Given the description of an element on the screen output the (x, y) to click on. 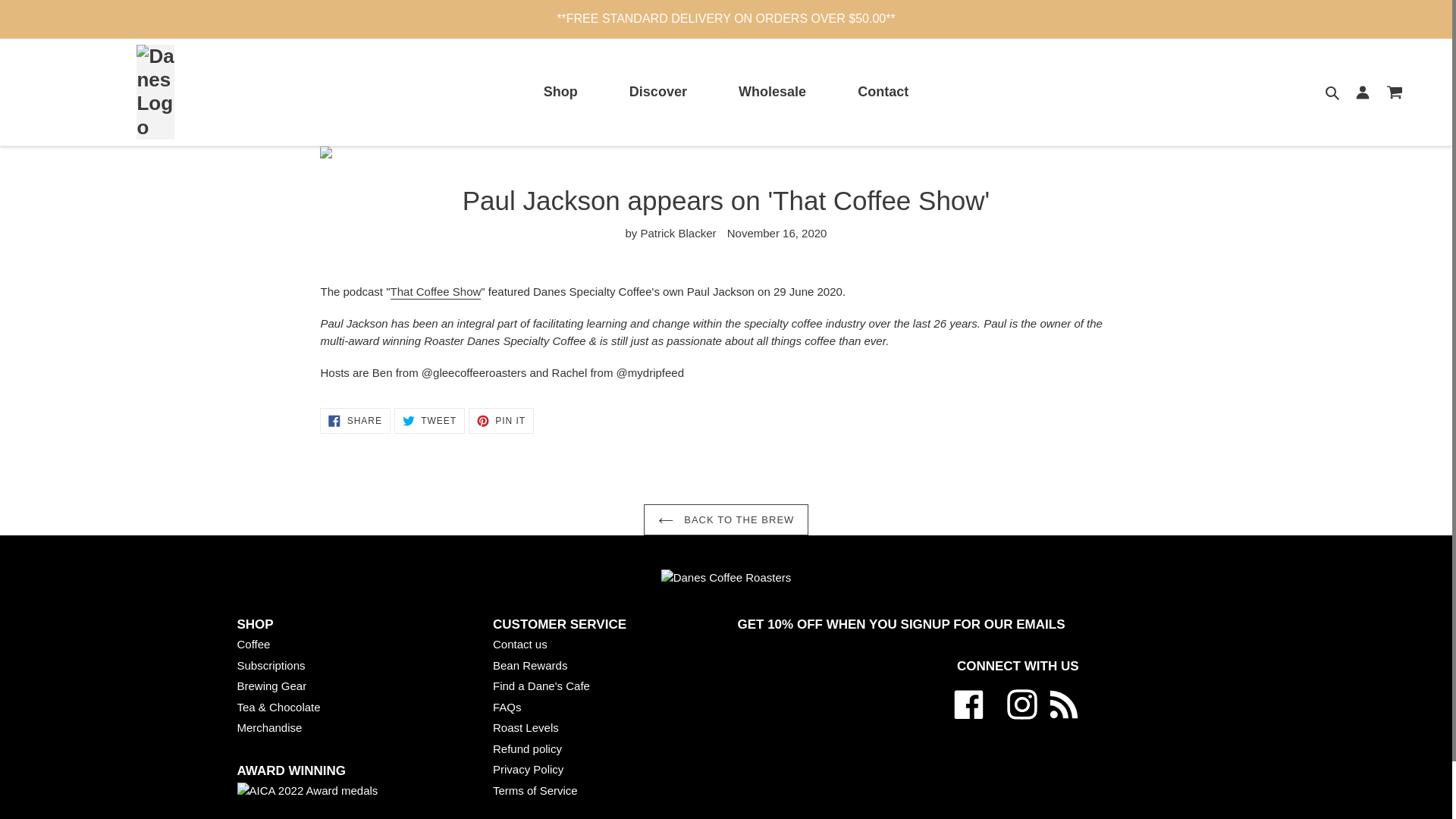
Contact (882, 91)
Discover (657, 91)
Log in (1362, 92)
Wholesale (771, 91)
Search (1333, 91)
Shop (560, 91)
Cart (1394, 92)
